Given the description of an element on the screen output the (x, y) to click on. 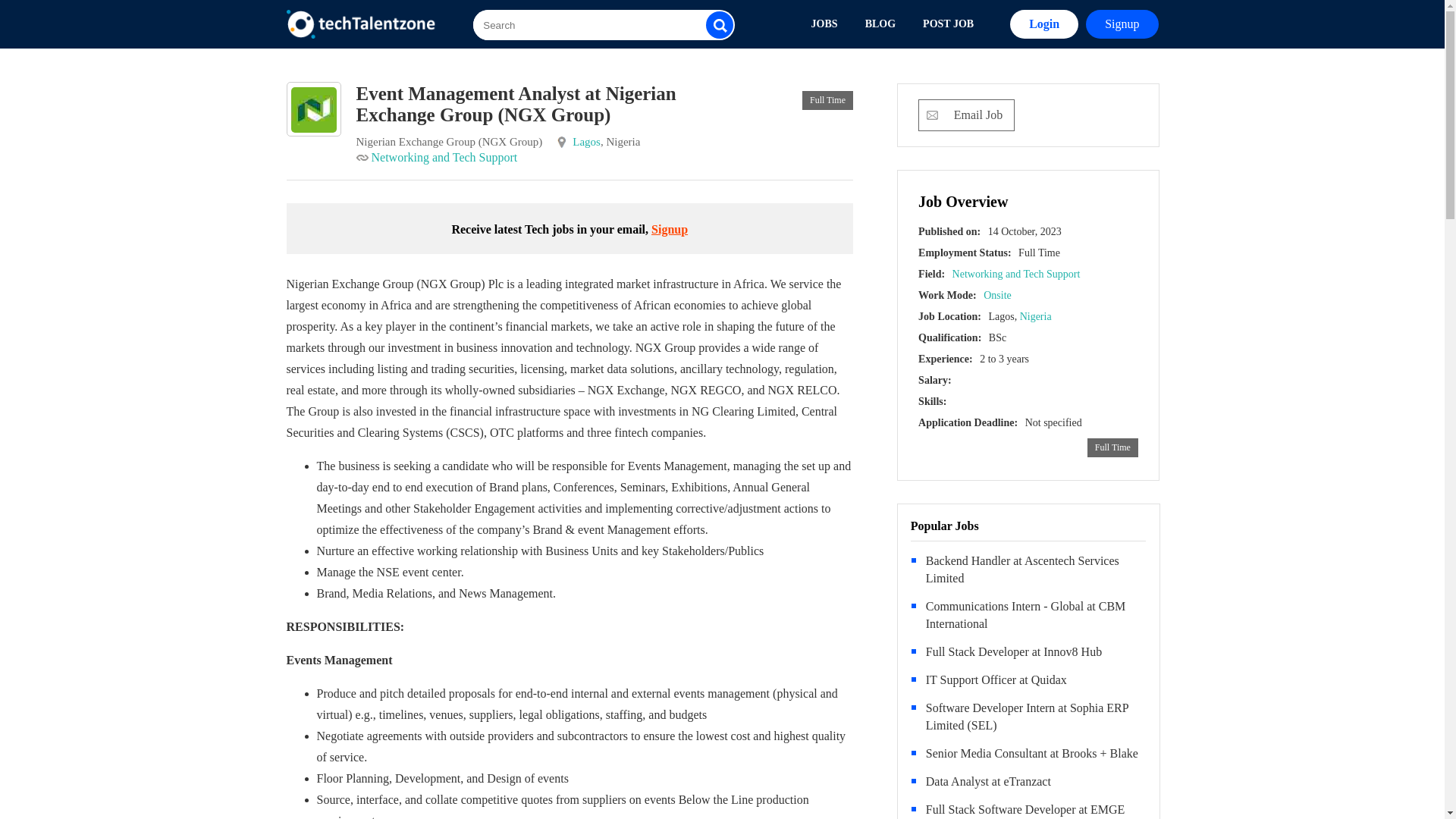
Lagos (585, 141)
POST JOB (947, 24)
Signup (1121, 23)
Signup (668, 228)
Go! (984, 73)
Networking and Tech Support (444, 156)
JOBS (824, 24)
Login (1044, 23)
BLOG (879, 24)
